Given the description of an element on the screen output the (x, y) to click on. 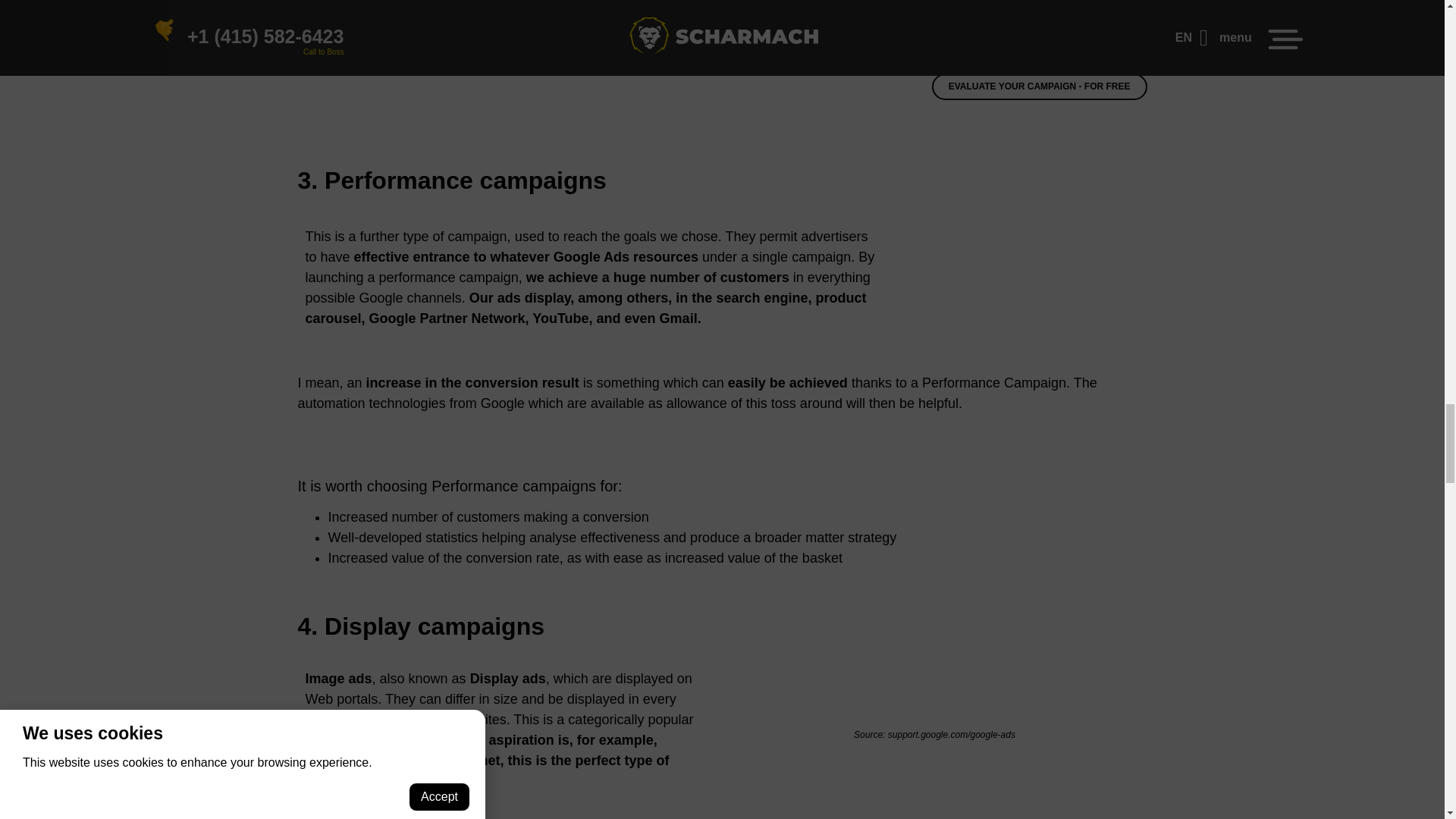
EVALUATE YOUR CAMPAIGN - FOR FREE (1039, 86)
